Given the description of an element on the screen output the (x, y) to click on. 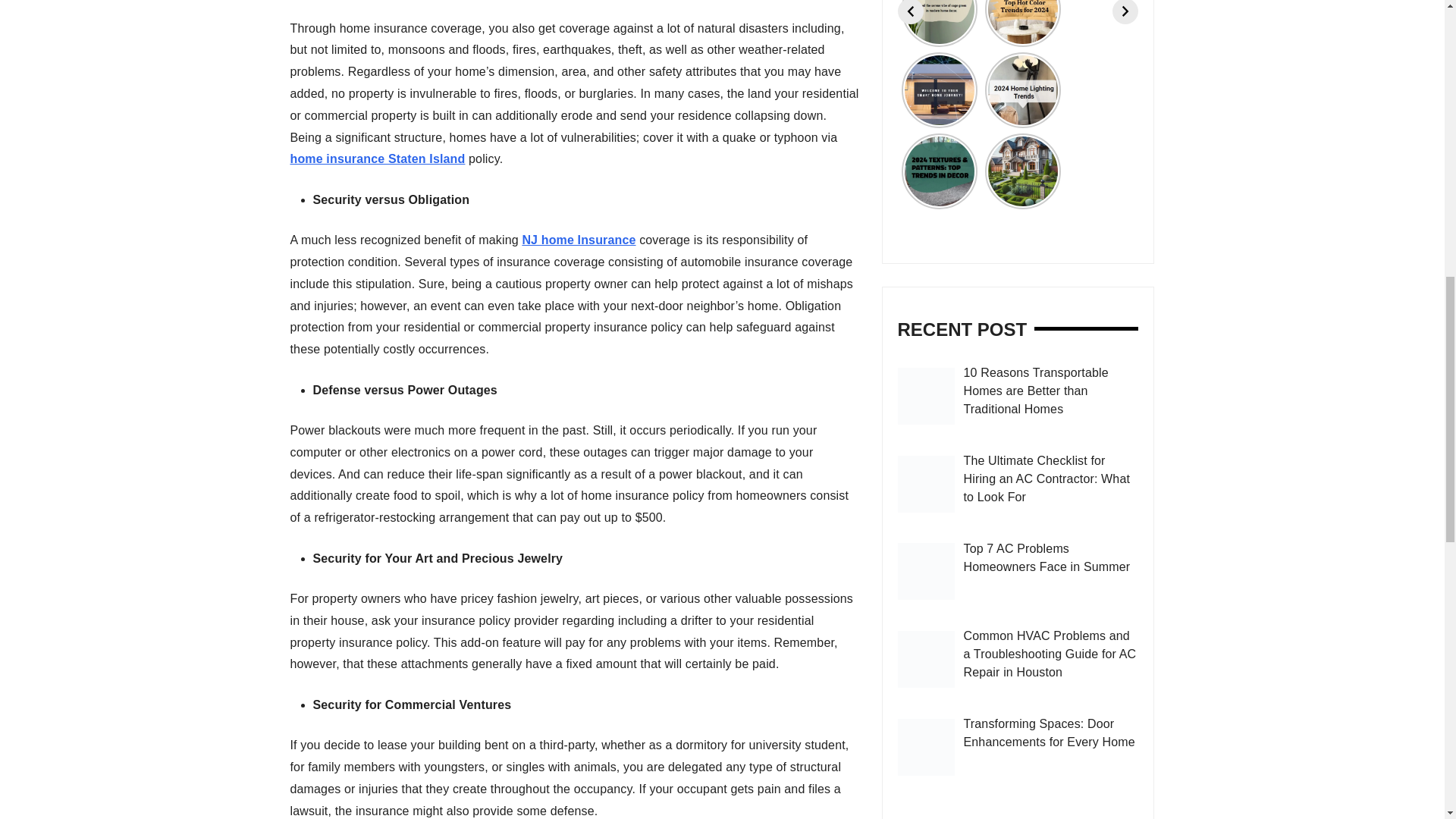
home insurance Staten Island (376, 158)
NJ home Insurance (577, 239)
